Given the description of an element on the screen output the (x, y) to click on. 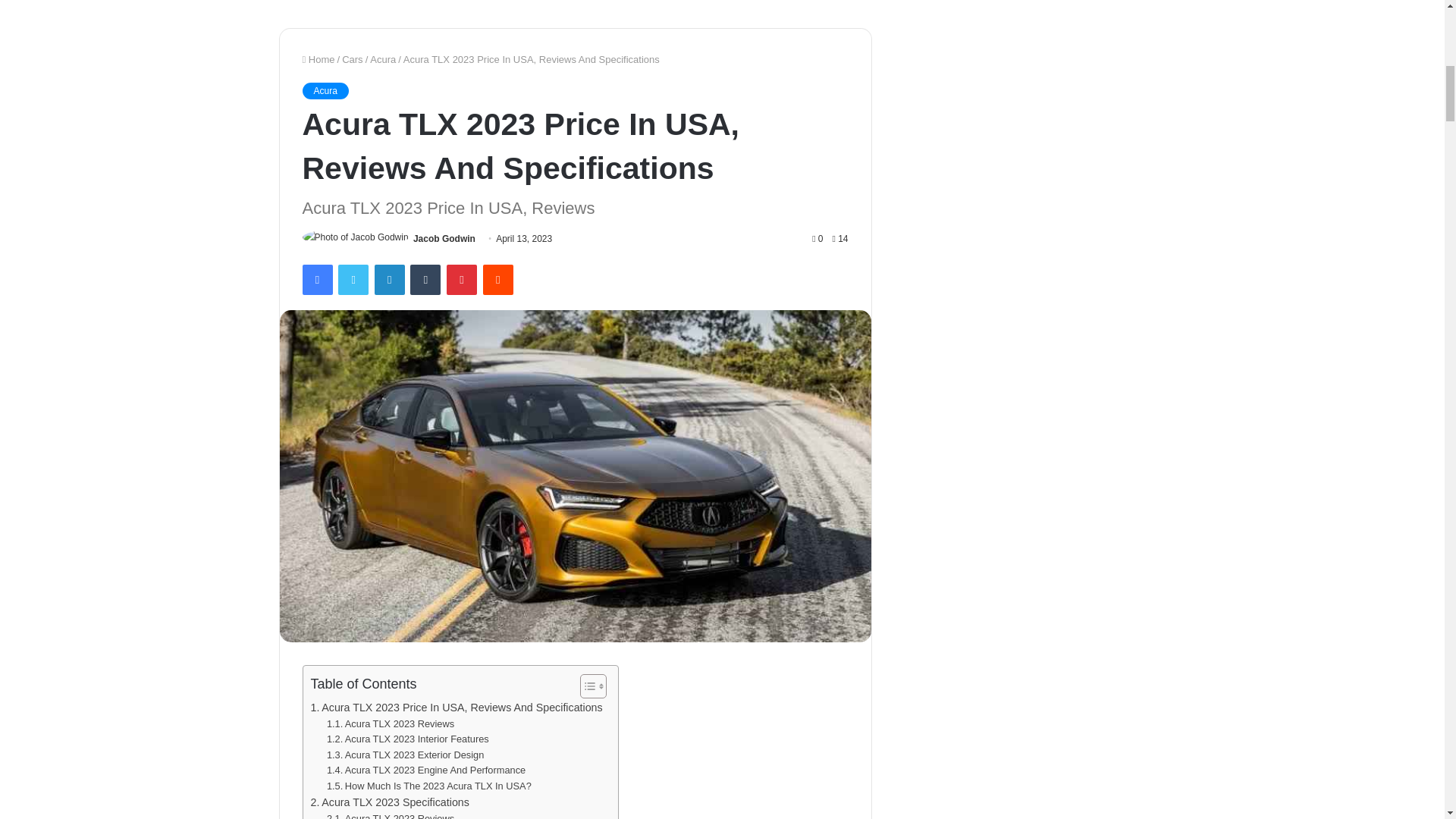
Pinterest (461, 279)
Acura TLX 2023 Price In USA, Reviews And Specifications (456, 707)
Reddit (498, 279)
Tumblr (425, 279)
LinkedIn (389, 279)
Jacob Godwin (444, 238)
Acura TLX 2023 Exterior Design (404, 755)
Acura TLX 2023 Interior Features (407, 739)
Twitter (352, 279)
Acura TLX 2023 Reviews (390, 724)
Facebook (316, 279)
